Given the description of an element on the screen output the (x, y) to click on. 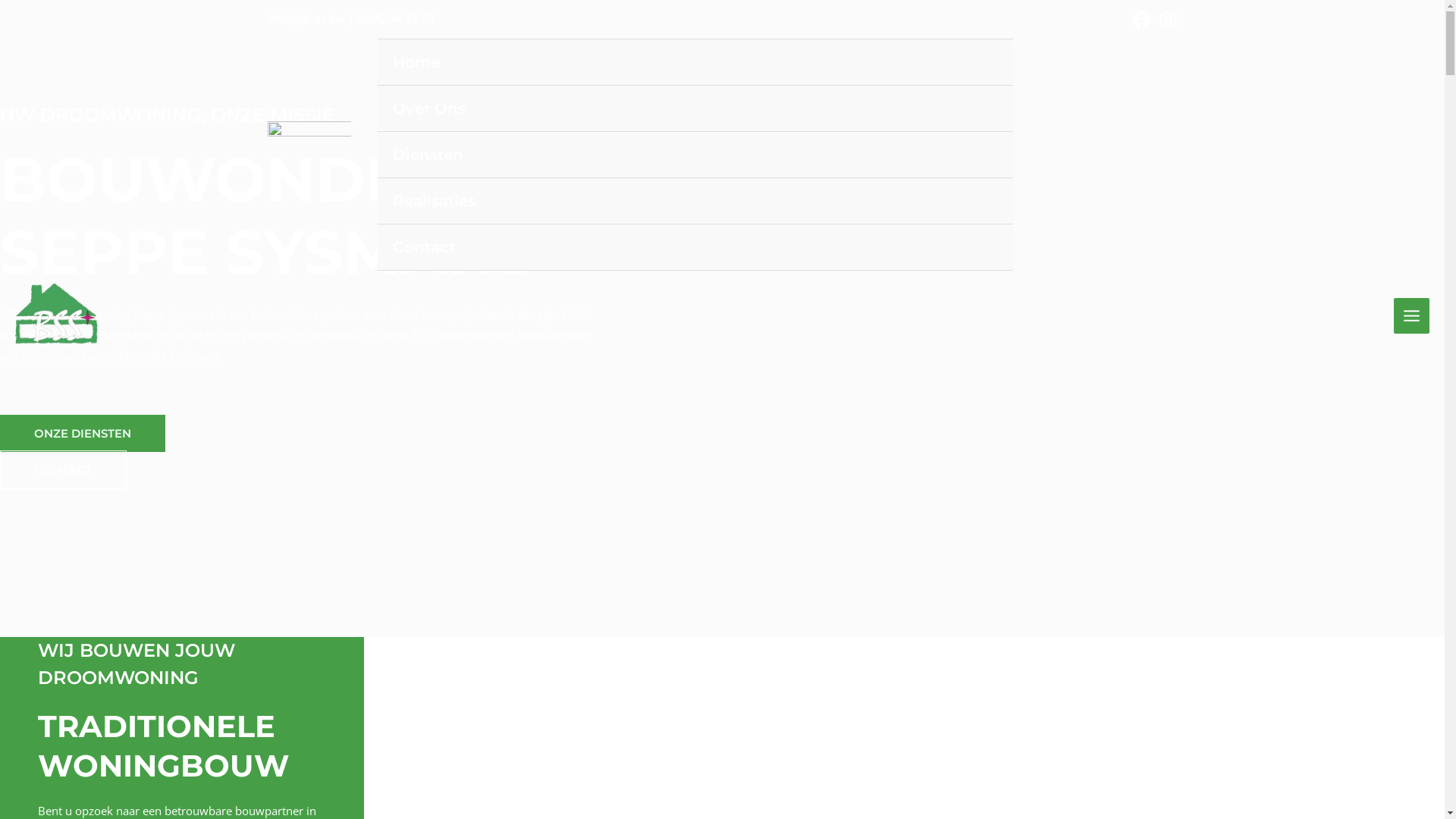
Contact Element type: text (695, 247)
Home Element type: text (695, 62)
Over Ons Element type: text (695, 108)
CONTACT Element type: text (63, 469)
0495 74 33 53 Element type: text (395, 18)
Realisaties Element type: text (695, 201)
MAIN MENU Element type: text (1411, 316)
info@b-ss.be Element type: text (304, 18)
Diensten Element type: text (695, 154)
ONZE DIENSTEN Element type: text (82, 432)
